Given the description of an element on the screen output the (x, y) to click on. 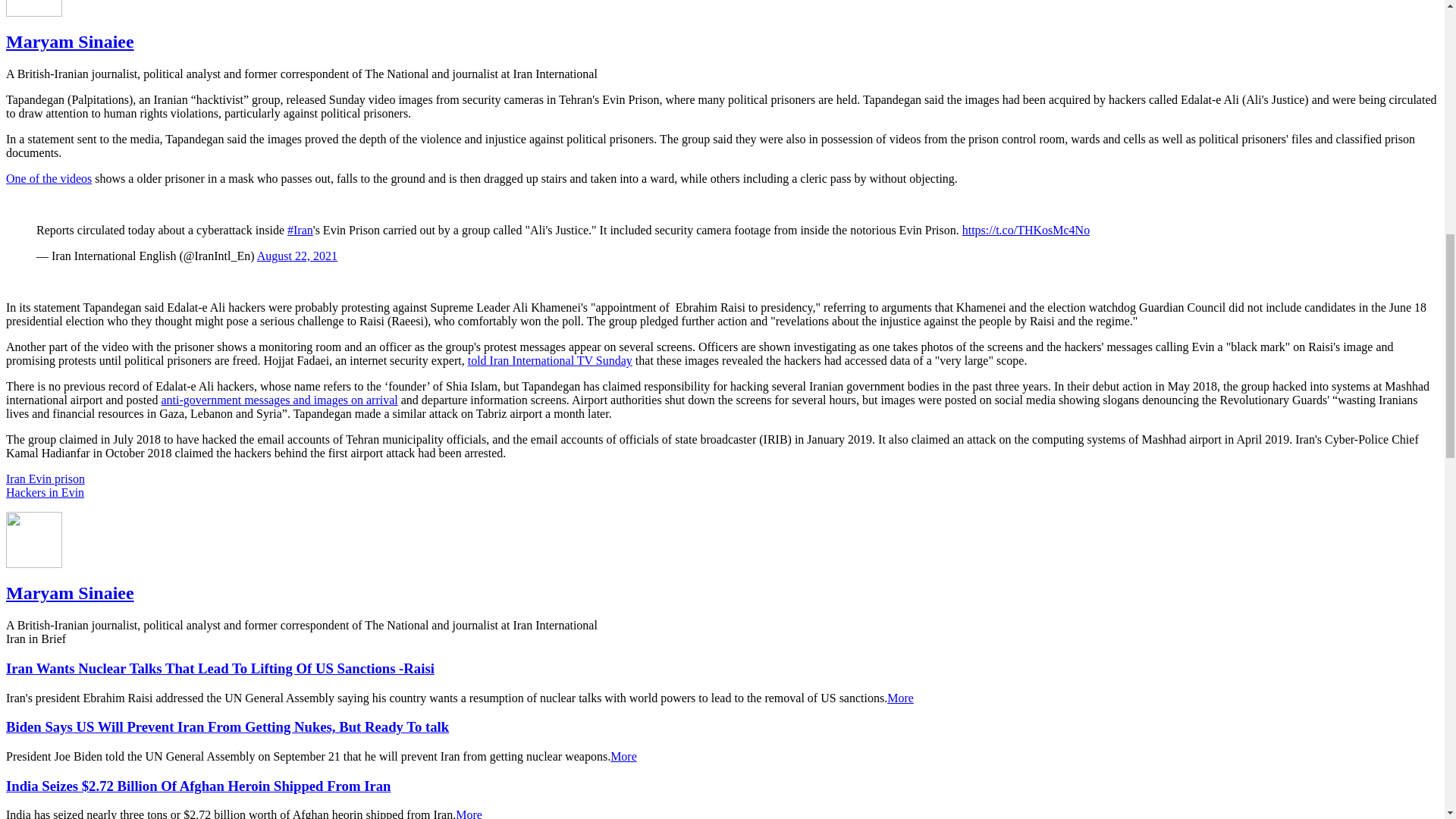
anti-government messages and images on arrival (278, 399)
August 22, 2021 (297, 255)
Maryam Sinaiee (69, 41)
One of the videos (48, 178)
Hackers in Evin (44, 492)
told Iran International TV Sunday (549, 359)
Iran Evin prison (44, 478)
